Given the description of an element on the screen output the (x, y) to click on. 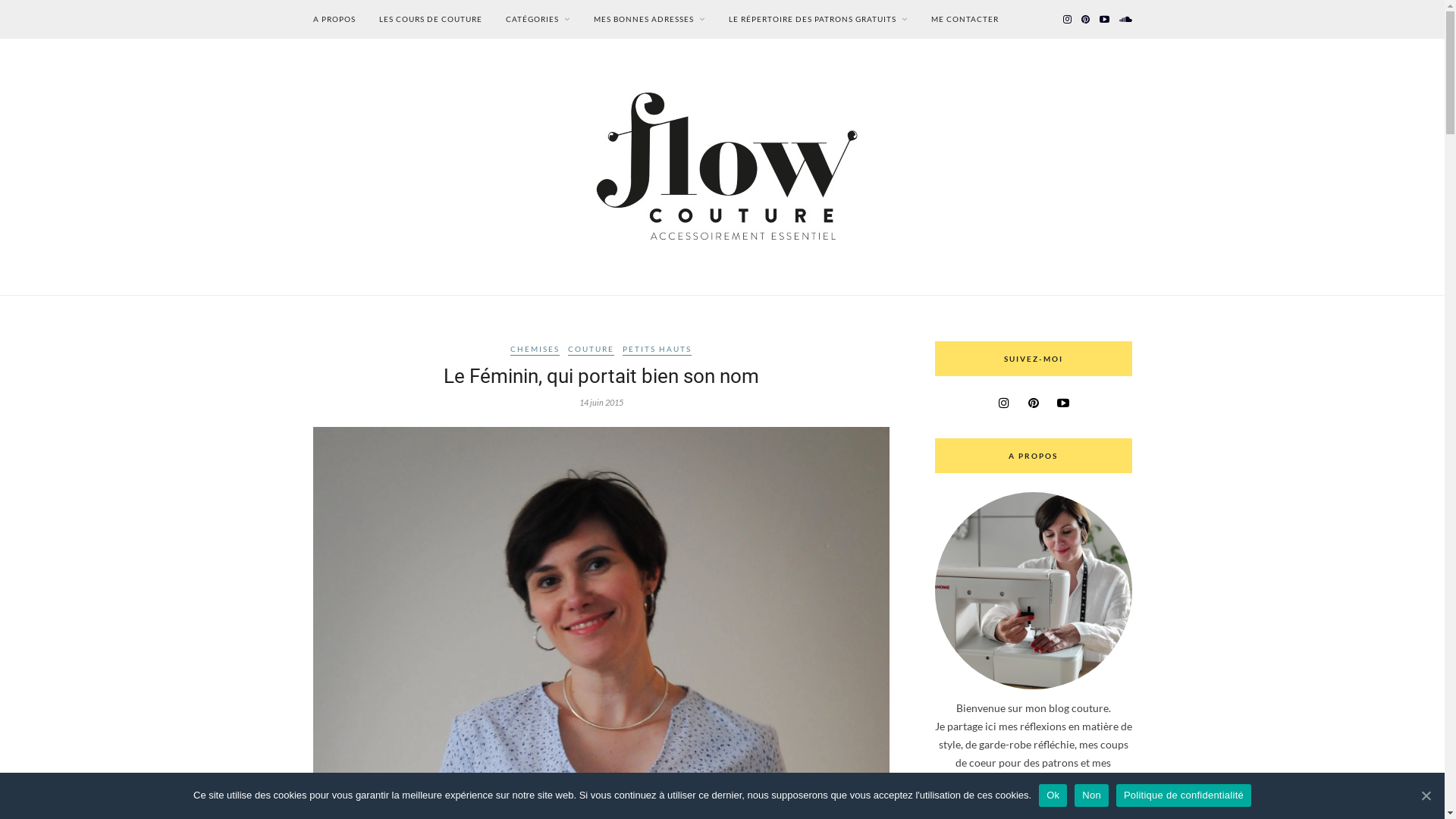
PETITS HAUTS Element type: text (656, 349)
CHEMISES Element type: text (534, 349)
MES BONNES ADRESSES Element type: text (648, 19)
A PROPOS Element type: text (333, 19)
COUTURE Element type: text (590, 349)
ME CONTACTER Element type: text (964, 19)
LES COURS DE COUTURE Element type: text (430, 19)
Non Element type: text (1091, 795)
Ok Element type: text (1052, 795)
